Given the description of an element on the screen output the (x, y) to click on. 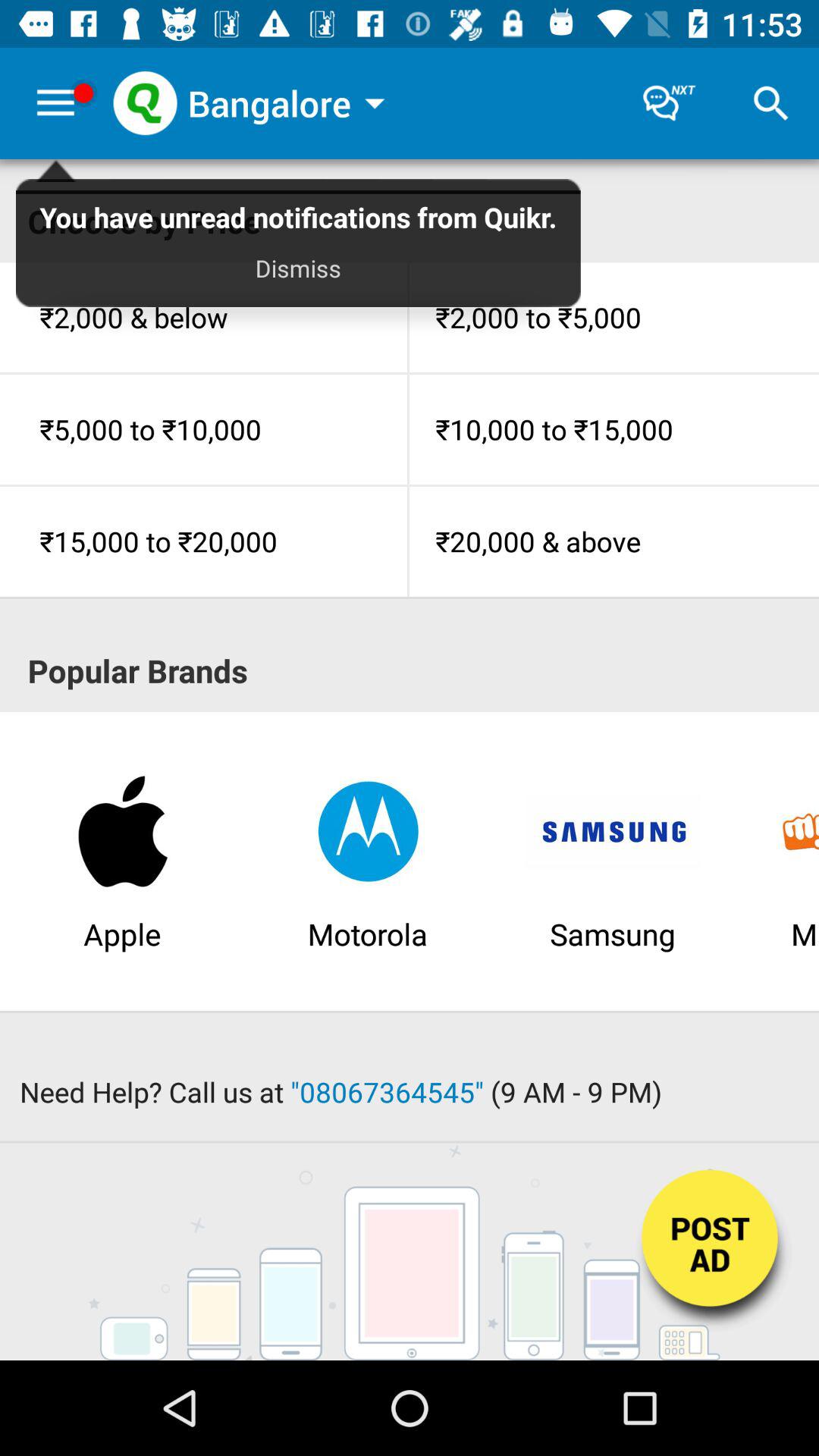
open chat (669, 103)
